Given the description of an element on the screen output the (x, y) to click on. 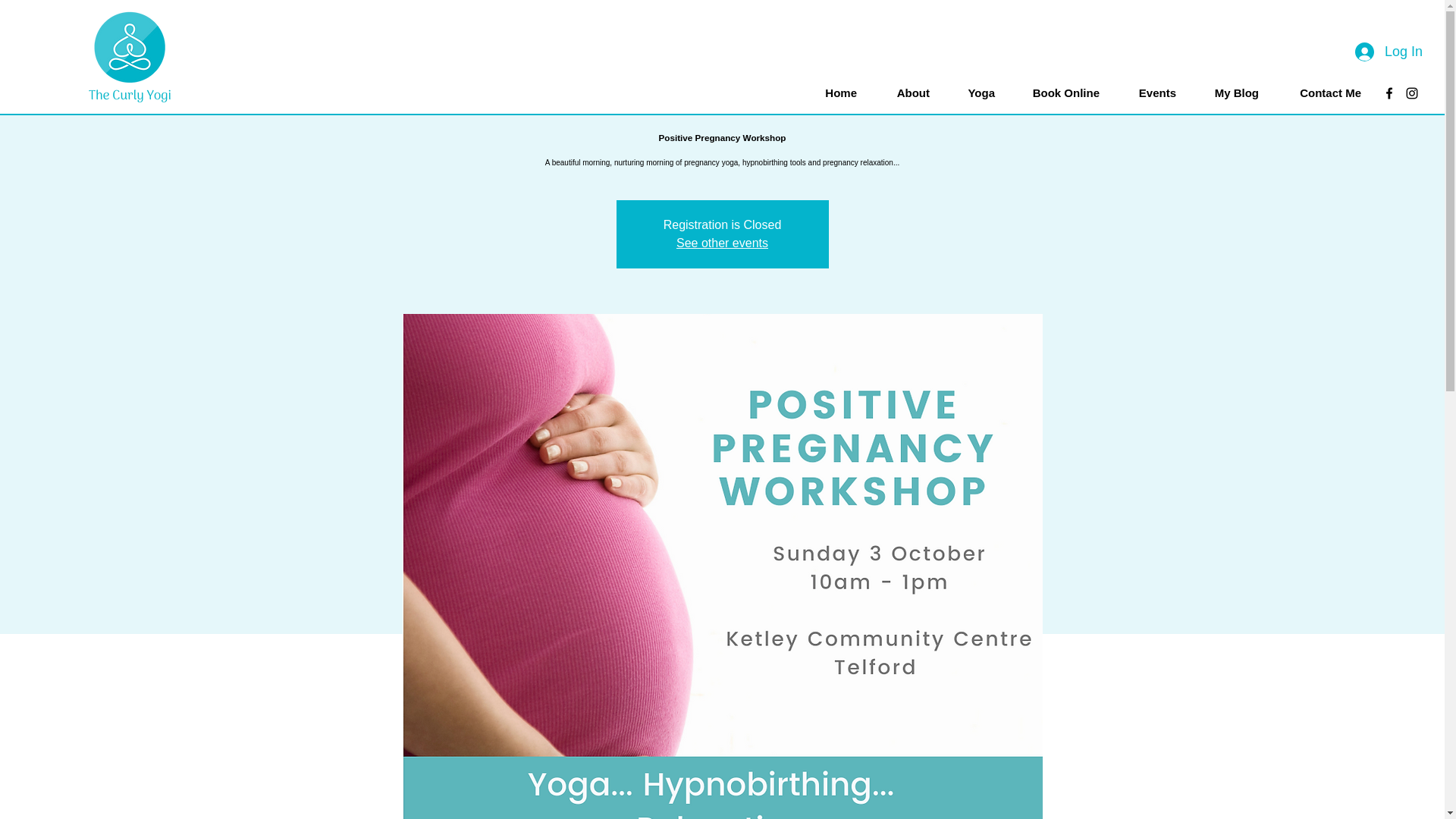
See other events (722, 242)
My Blog (1228, 92)
Log In (1375, 52)
Contact Me (1321, 92)
Home (830, 92)
